Given the description of an element on the screen output the (x, y) to click on. 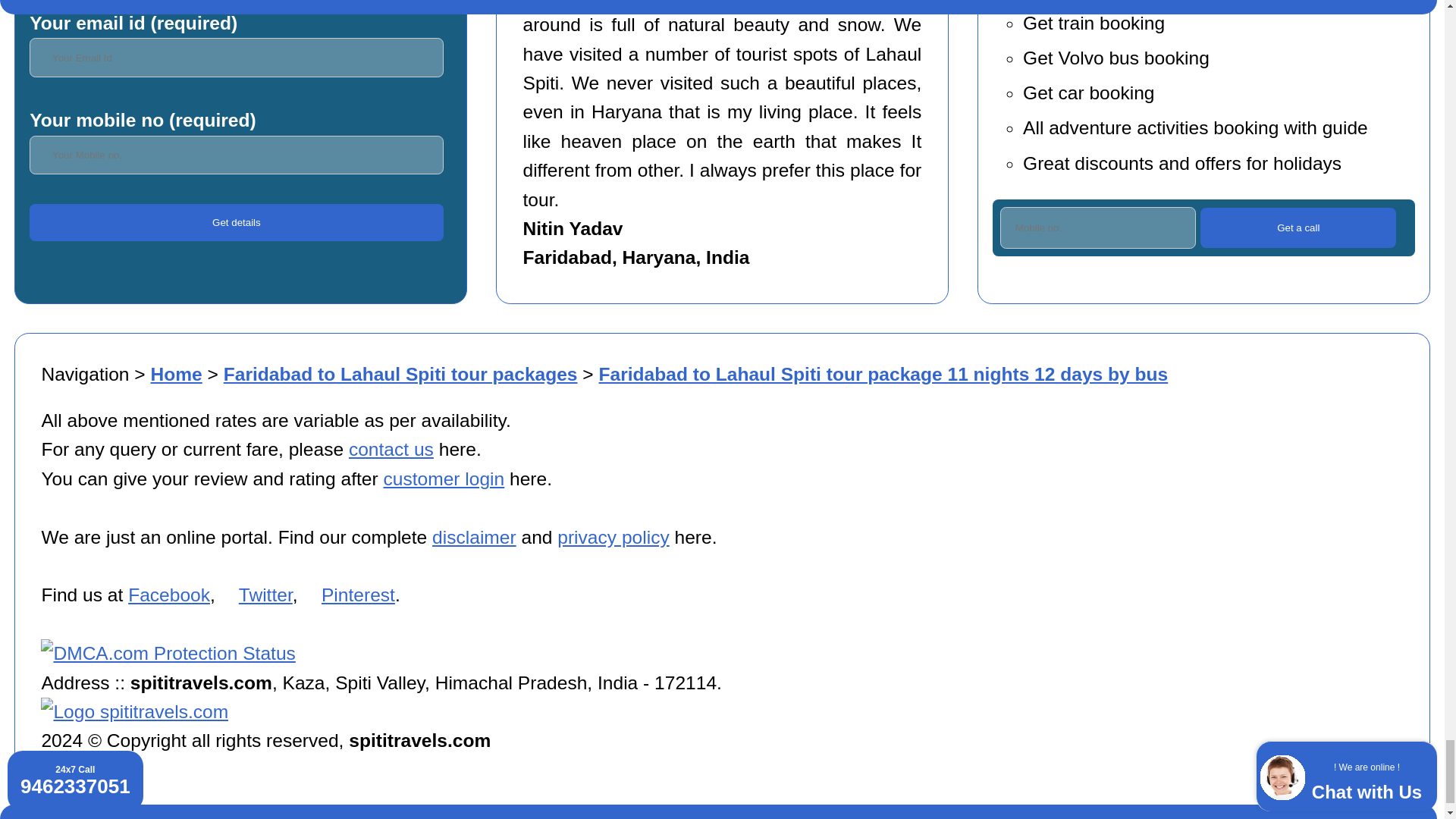
Enter your Mo. no. only digits (1097, 227)
Get details (235, 222)
Get a call (1297, 228)
Logo spititravels.com (134, 711)
Enter Email Id. (235, 56)
Enter your Mo. no. only digits (235, 155)
DMCA.com Protection Status (167, 652)
